Given the description of an element on the screen output the (x, y) to click on. 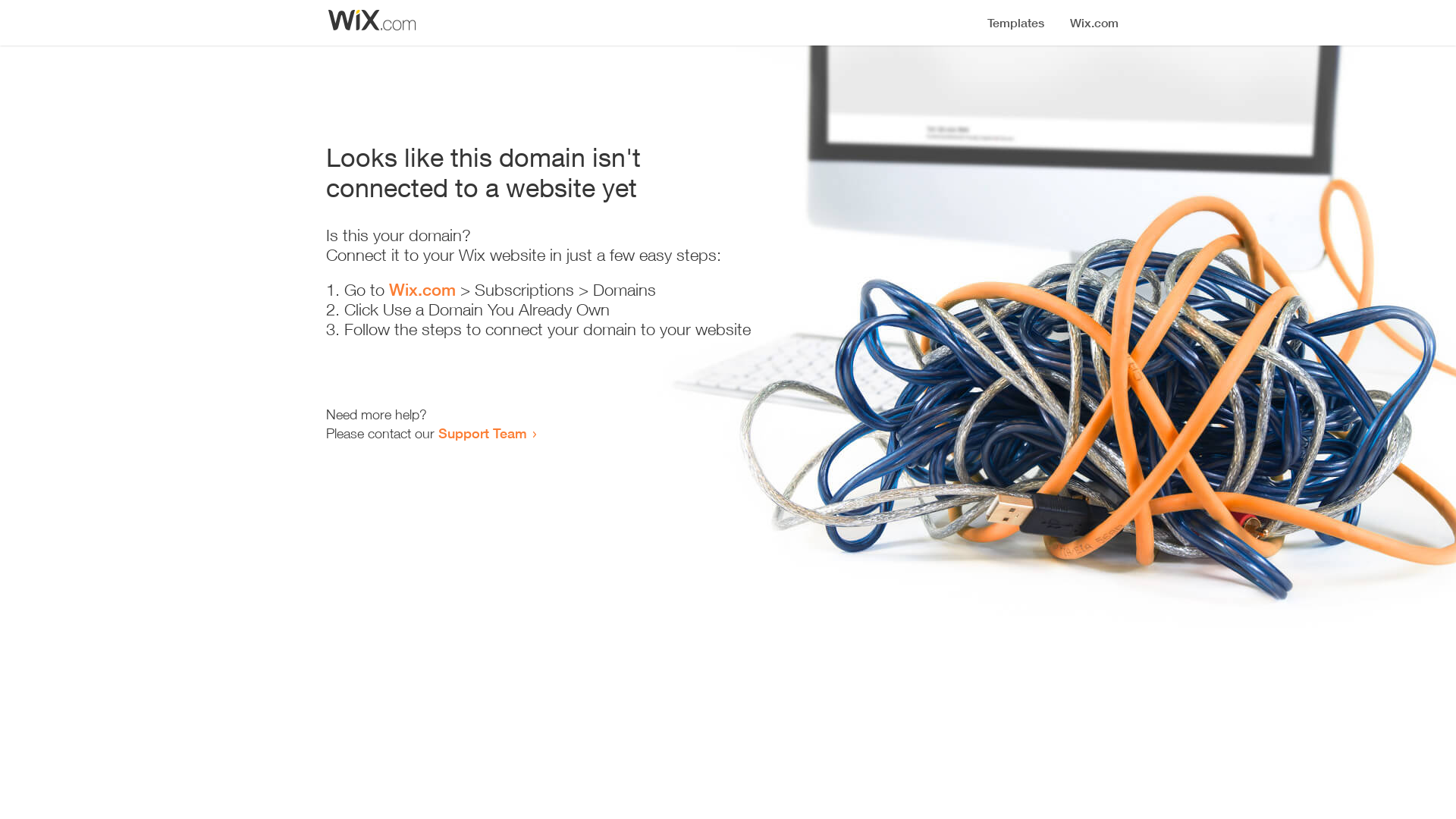
Support Team Element type: text (482, 432)
Wix.com Element type: text (422, 289)
